Given the description of an element on the screen output the (x, y) to click on. 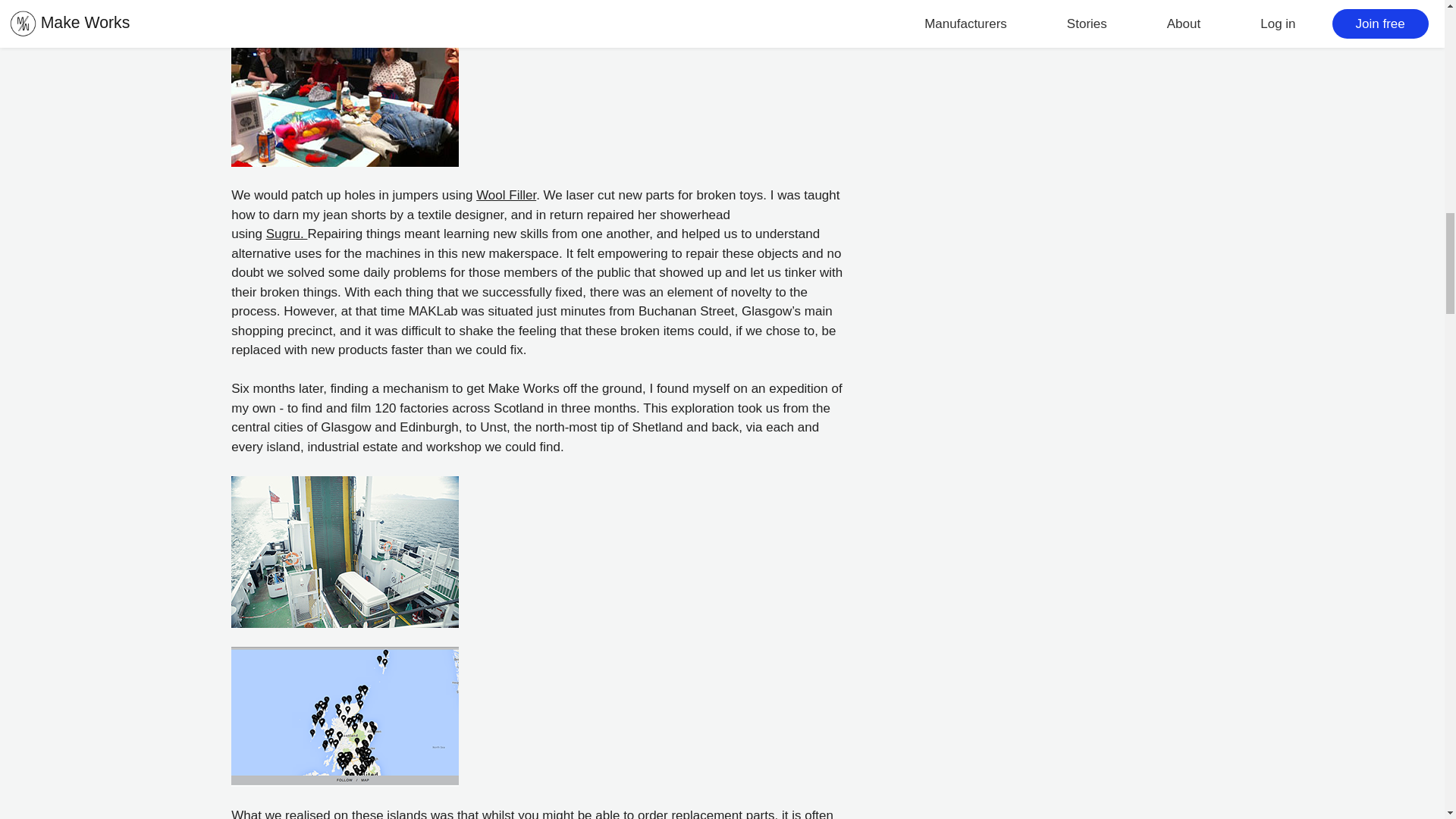
Sugru.  (286, 233)
Wool Filler (505, 195)
